Given the description of an element on the screen output the (x, y) to click on. 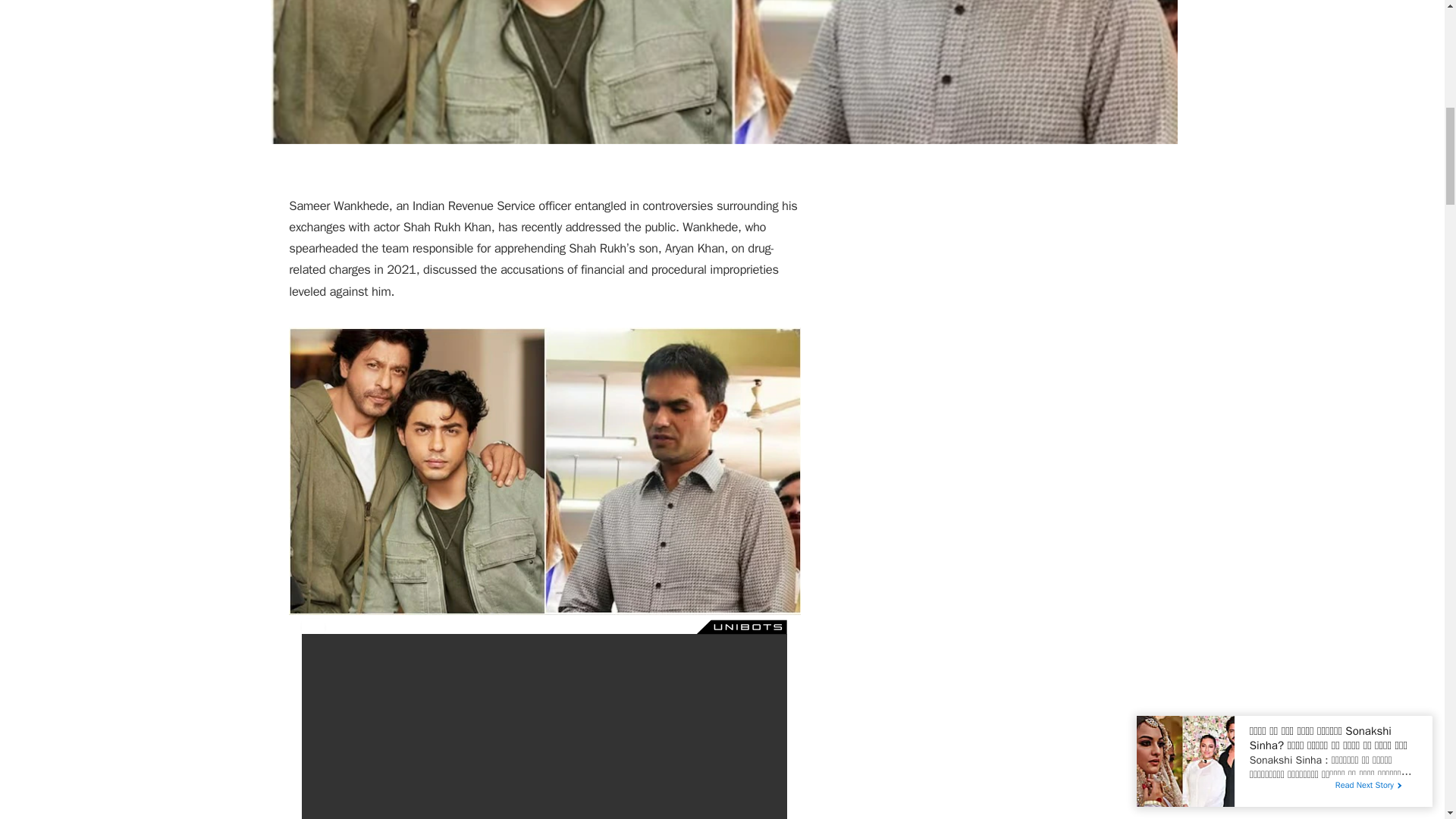
Close Player (312, 626)
